Given the description of an element on the screen output the (x, y) to click on. 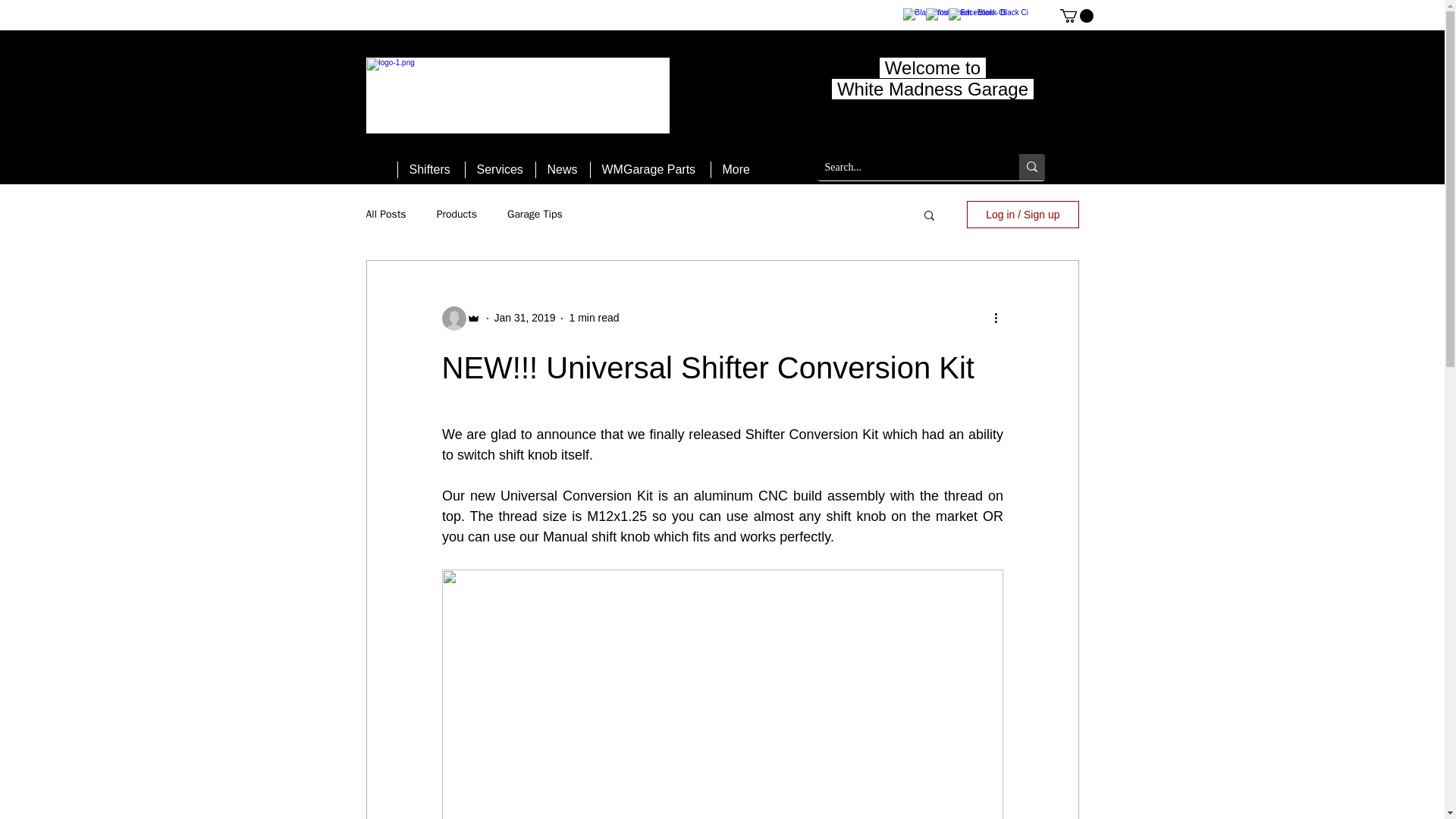
Jan 31, 2019 (525, 317)
1 min read (593, 317)
Products (456, 214)
News (562, 169)
Services (499, 169)
All Posts (385, 214)
Shifters (430, 169)
Garage Tips (534, 214)
WMGarage Parts (649, 169)
